Given the description of an element on the screen output the (x, y) to click on. 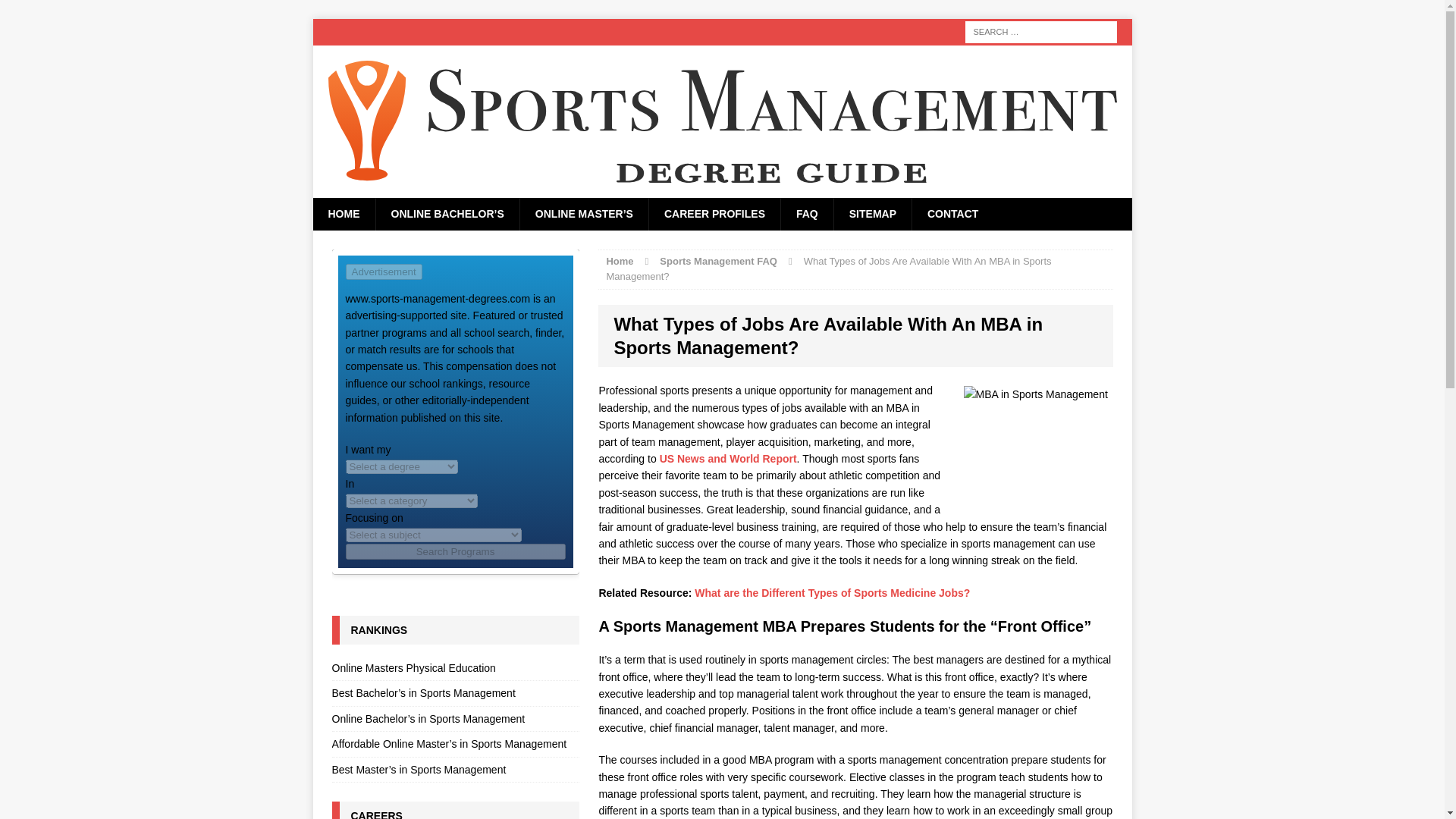
SITEMAP (871, 214)
Sports Management FAQ (718, 260)
CAREER PROFILES (713, 214)
FAQ (806, 214)
Online Masters Physical Education (455, 670)
Sports Management Degree Guide (722, 121)
Home (619, 260)
What are the Different Types of Sports Medicine Jobs? (831, 592)
HOME (343, 214)
US News and World Report (727, 458)
CONTACT (951, 214)
Search (37, 11)
